Given the description of an element on the screen output the (x, y) to click on. 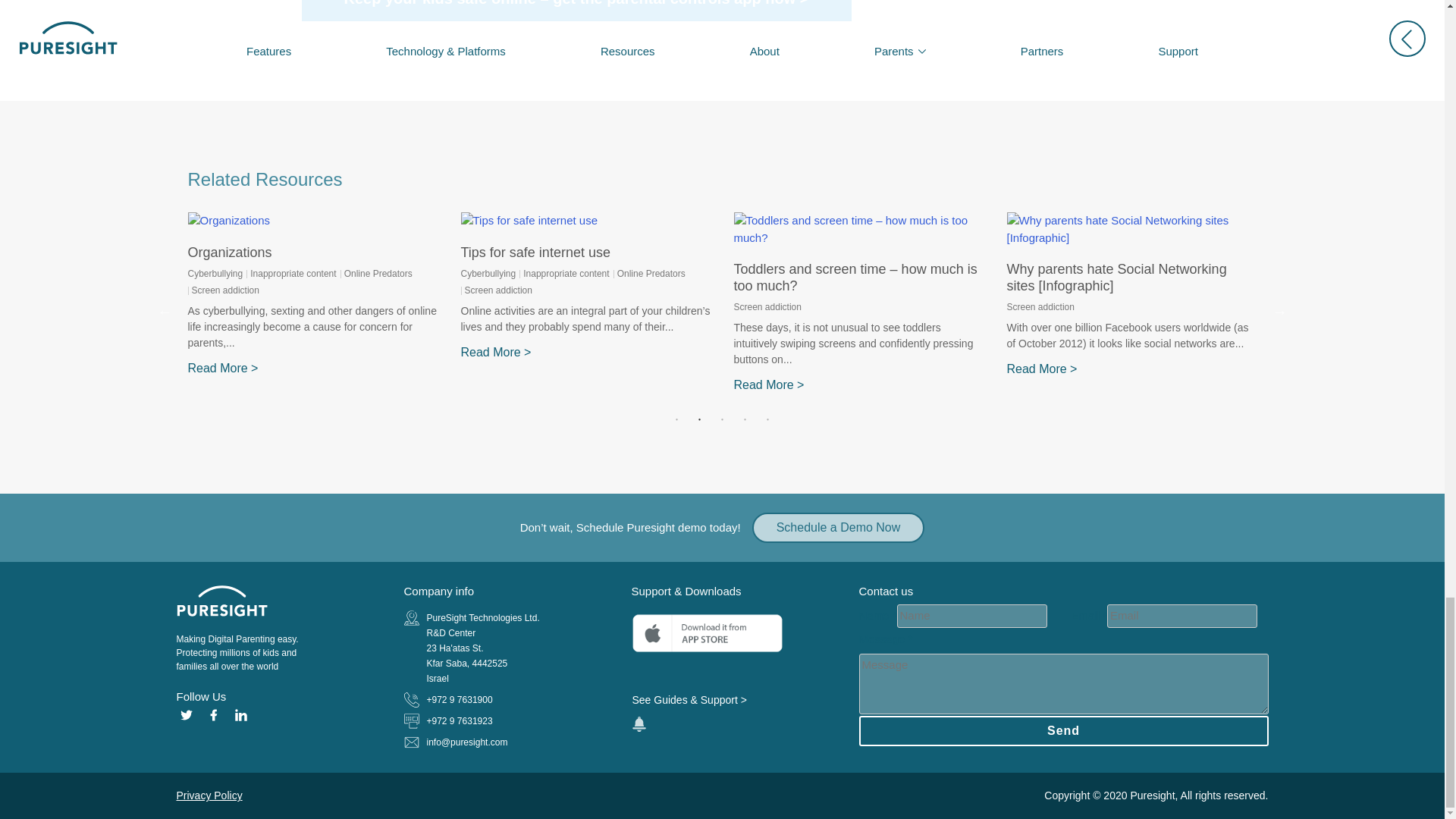
iPhone-download-link (706, 633)
Remote assistant (638, 724)
Android-download-link (706, 670)
Previous (165, 311)
